Given the description of an element on the screen output the (x, y) to click on. 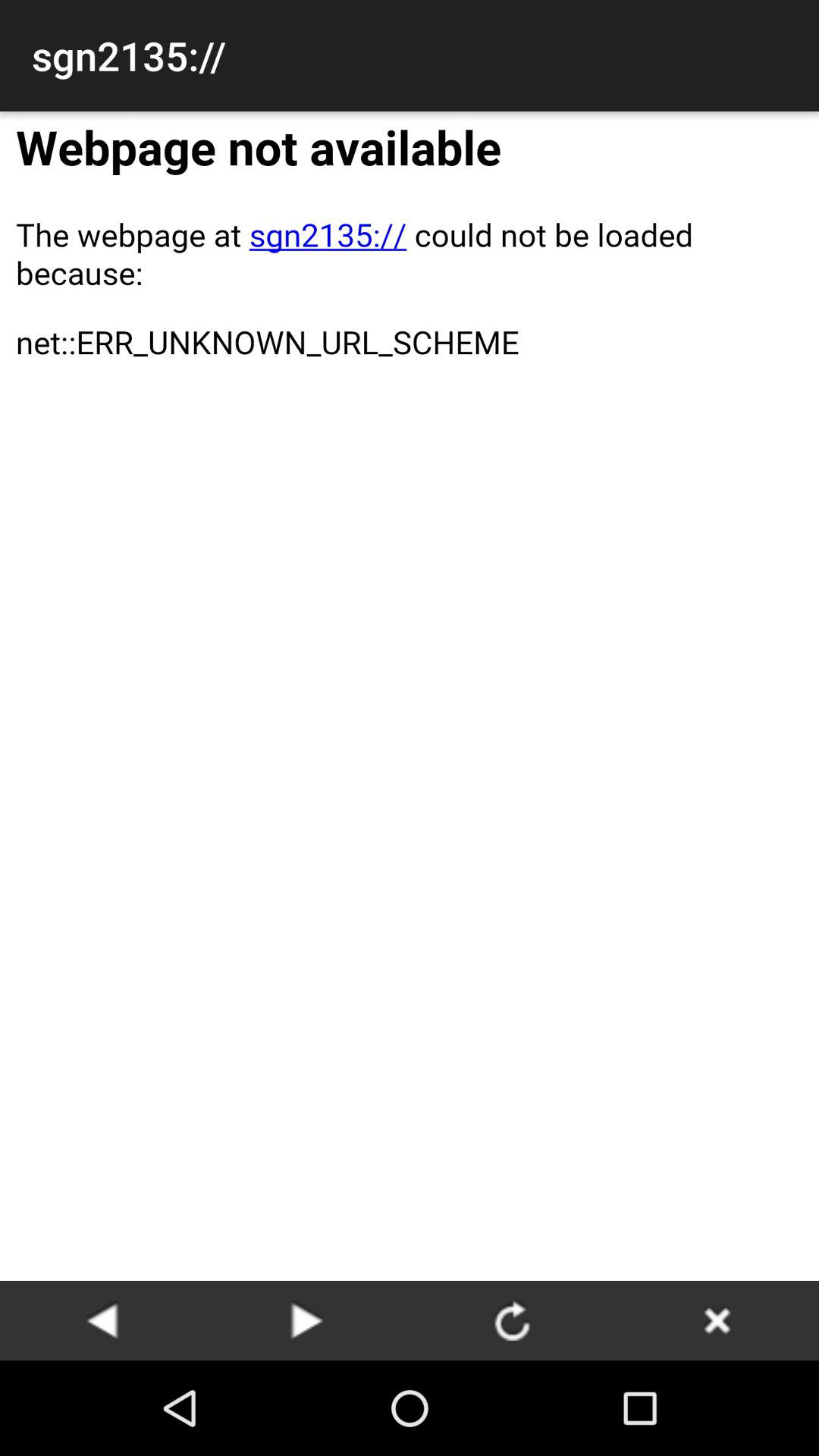
go back (102, 1320)
